Given the description of an element on the screen output the (x, y) to click on. 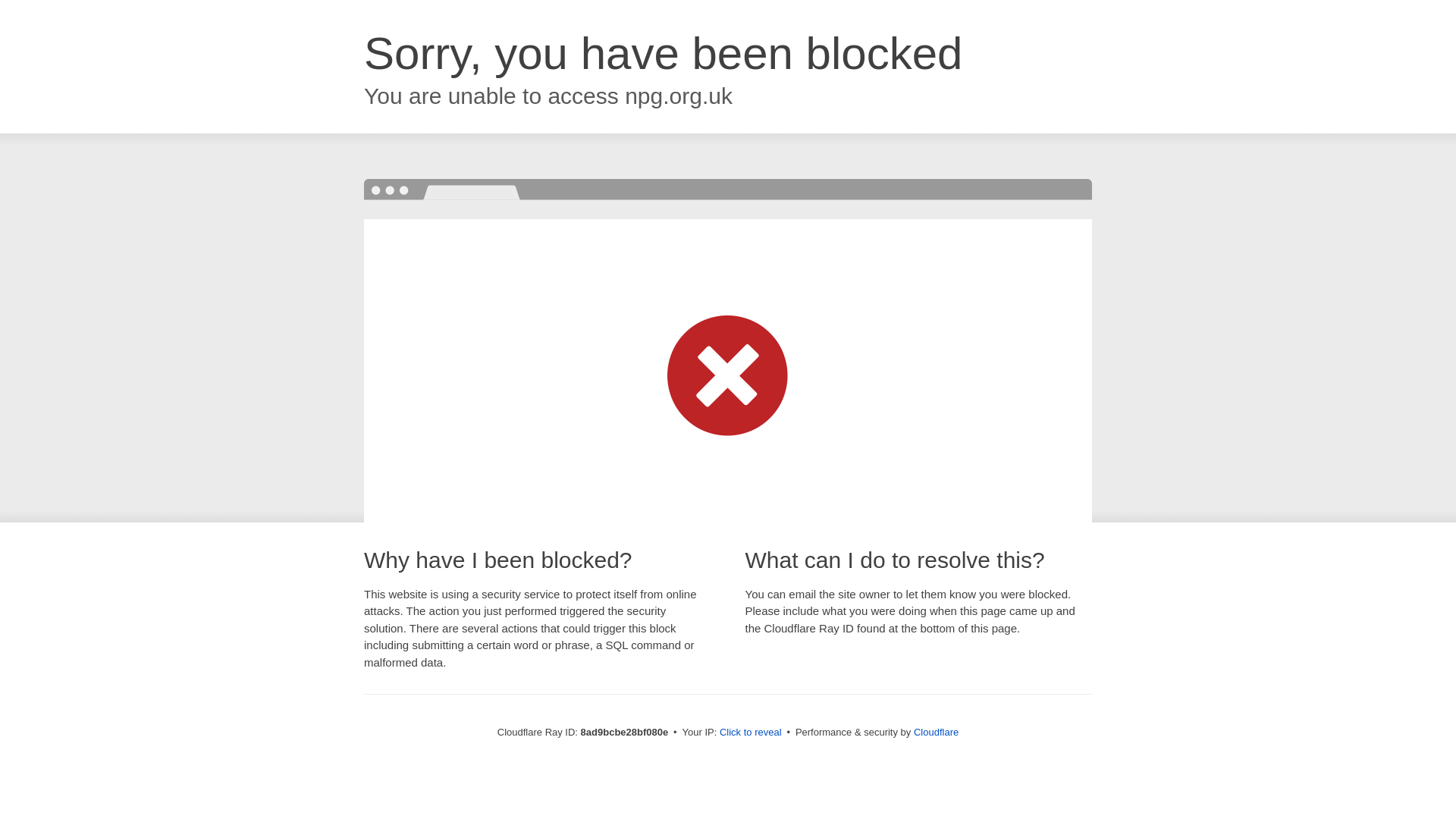
Click to reveal (750, 732)
Cloudflare (936, 731)
